Given the description of an element on the screen output the (x, y) to click on. 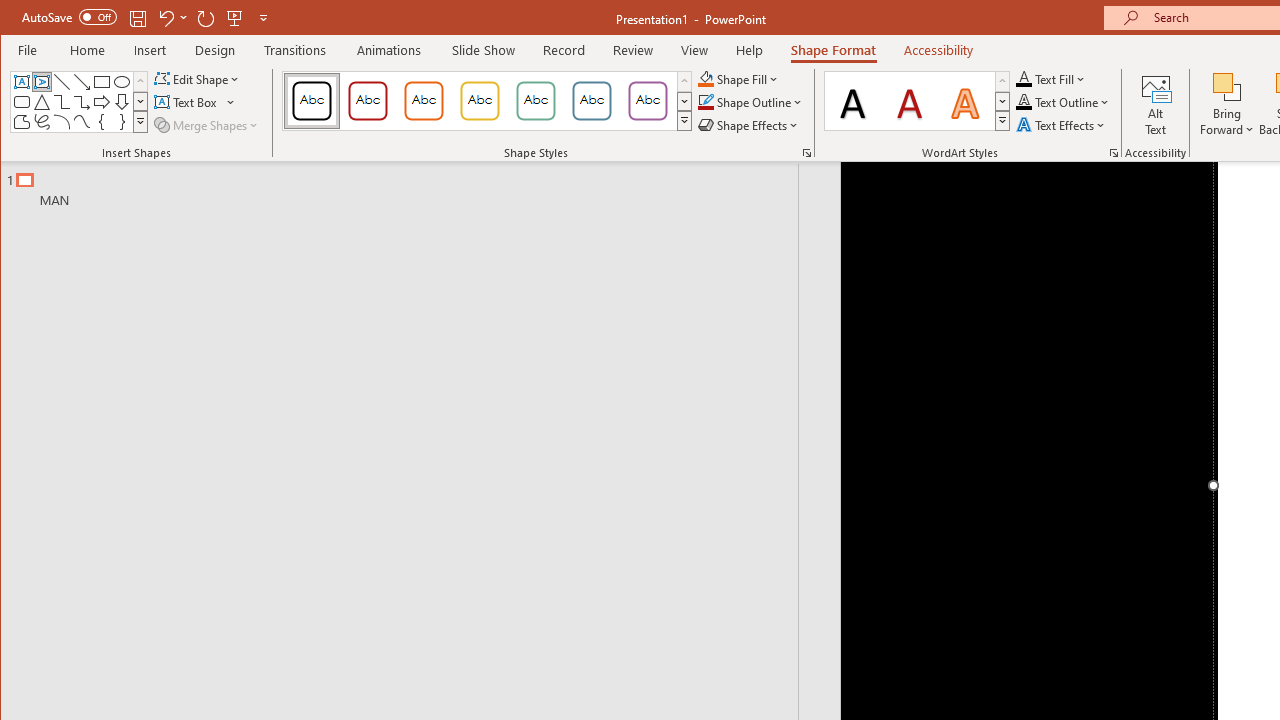
Text Effects (1062, 124)
Colored Outline - Gold, Accent 3 (479, 100)
AutomationID: TextStylesGallery (917, 101)
